Given the description of an element on the screen output the (x, y) to click on. 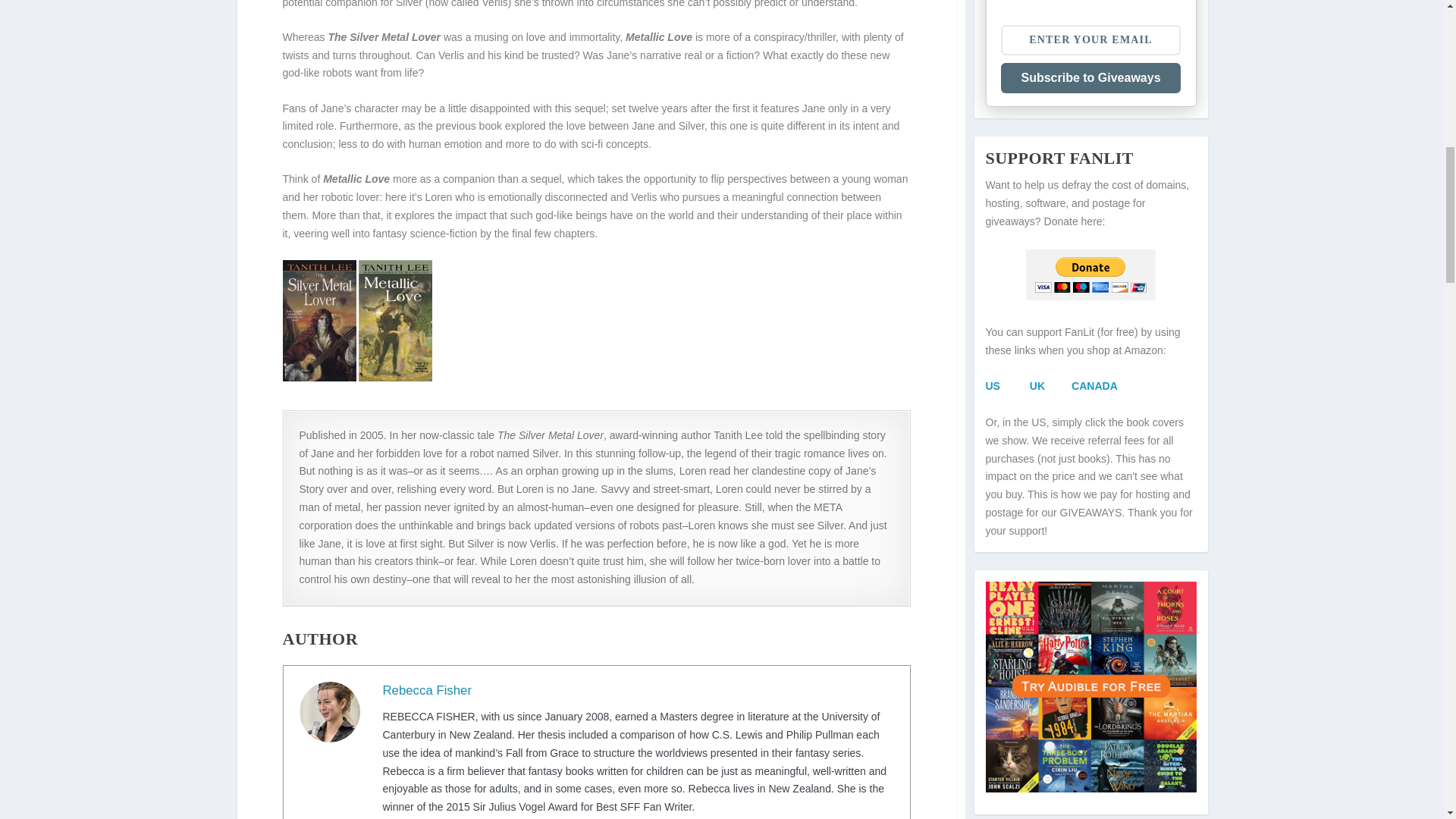
Rebecca Fisher (426, 690)
